Given the description of an element on the screen output the (x, y) to click on. 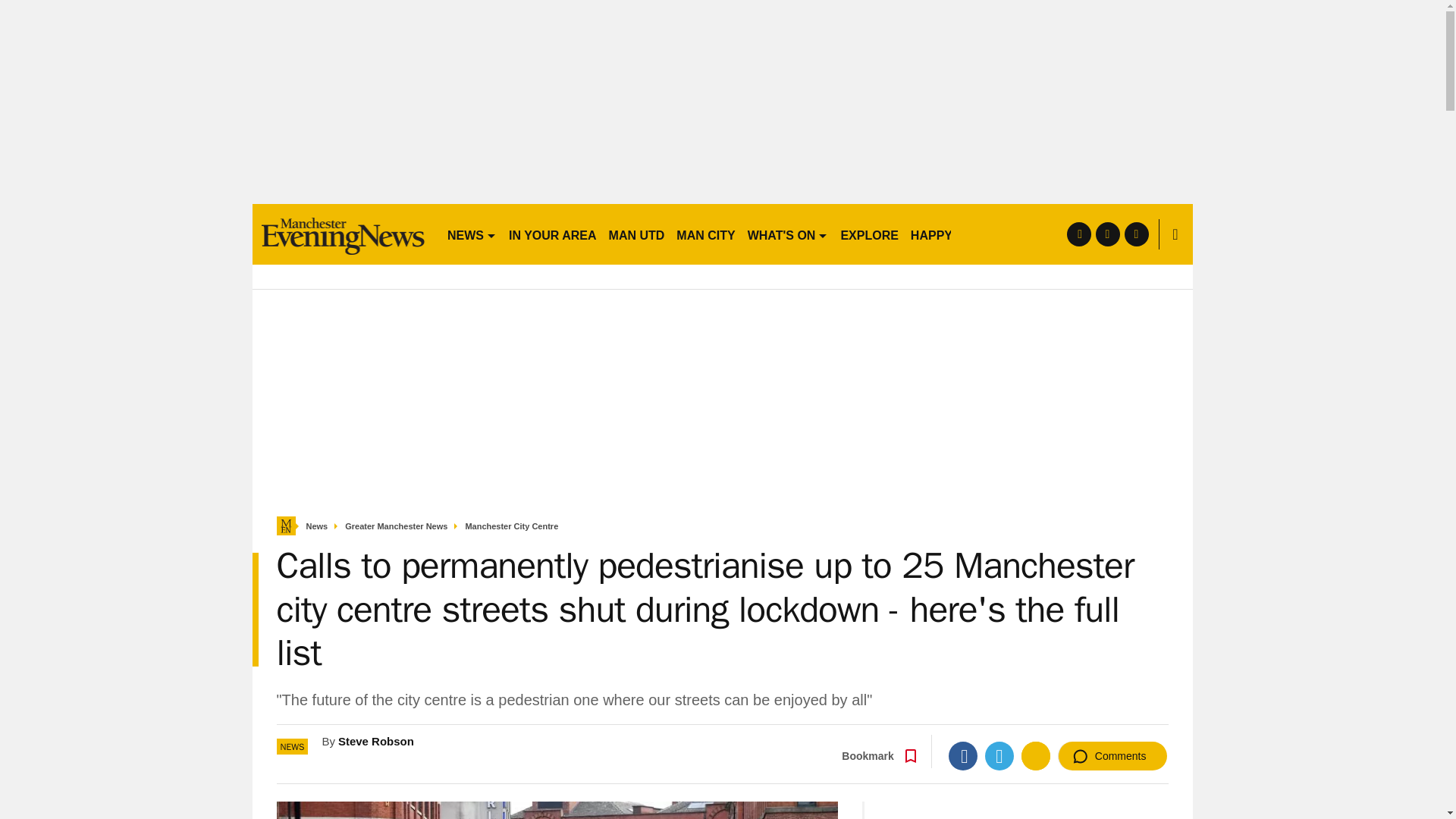
MAN CITY (705, 233)
facebook (1077, 233)
WHAT'S ON (787, 233)
IN YOUR AREA (552, 233)
men (342, 233)
Comments (1112, 756)
Twitter (999, 756)
instagram (1136, 233)
twitter (1106, 233)
Facebook (962, 756)
MAN UTD (636, 233)
NEWS (471, 233)
